Given the description of an element on the screen output the (x, y) to click on. 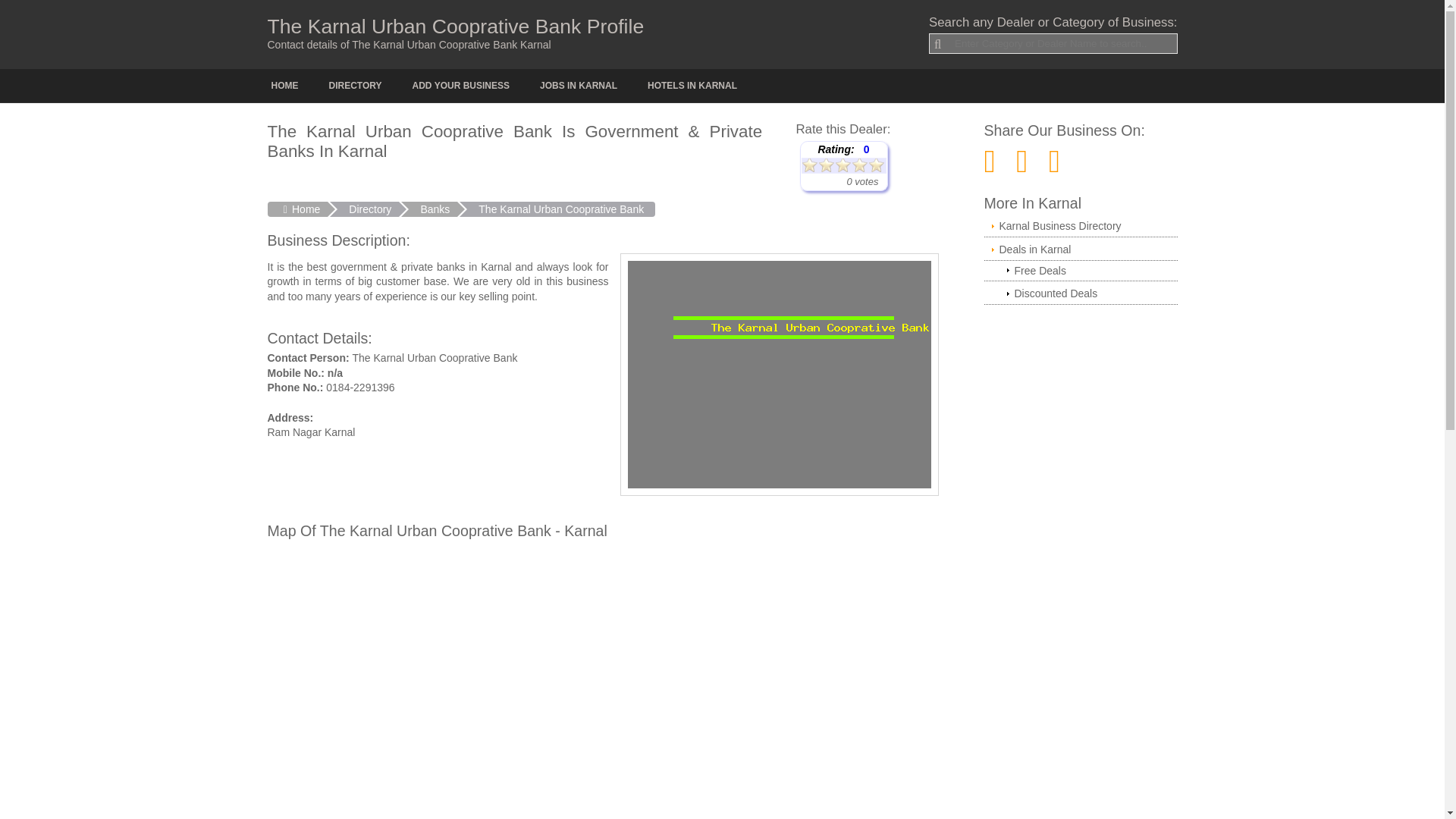
Karnal Business Directory (1080, 226)
Directory (371, 209)
Add You Business (461, 85)
JOBS IN KARNAL (578, 85)
The Karnal Urban Cooprative Bank (564, 209)
ADD YOUR BUSINESS (461, 85)
Home (296, 209)
Karnal Business Directory (1080, 226)
Banks (436, 209)
Hotels in Karnal (692, 85)
Home page (283, 85)
Free Deals (1080, 271)
Karnal Business Directory (354, 85)
Deals in Karnal (1080, 250)
Home (296, 209)
